Given the description of an element on the screen output the (x, y) to click on. 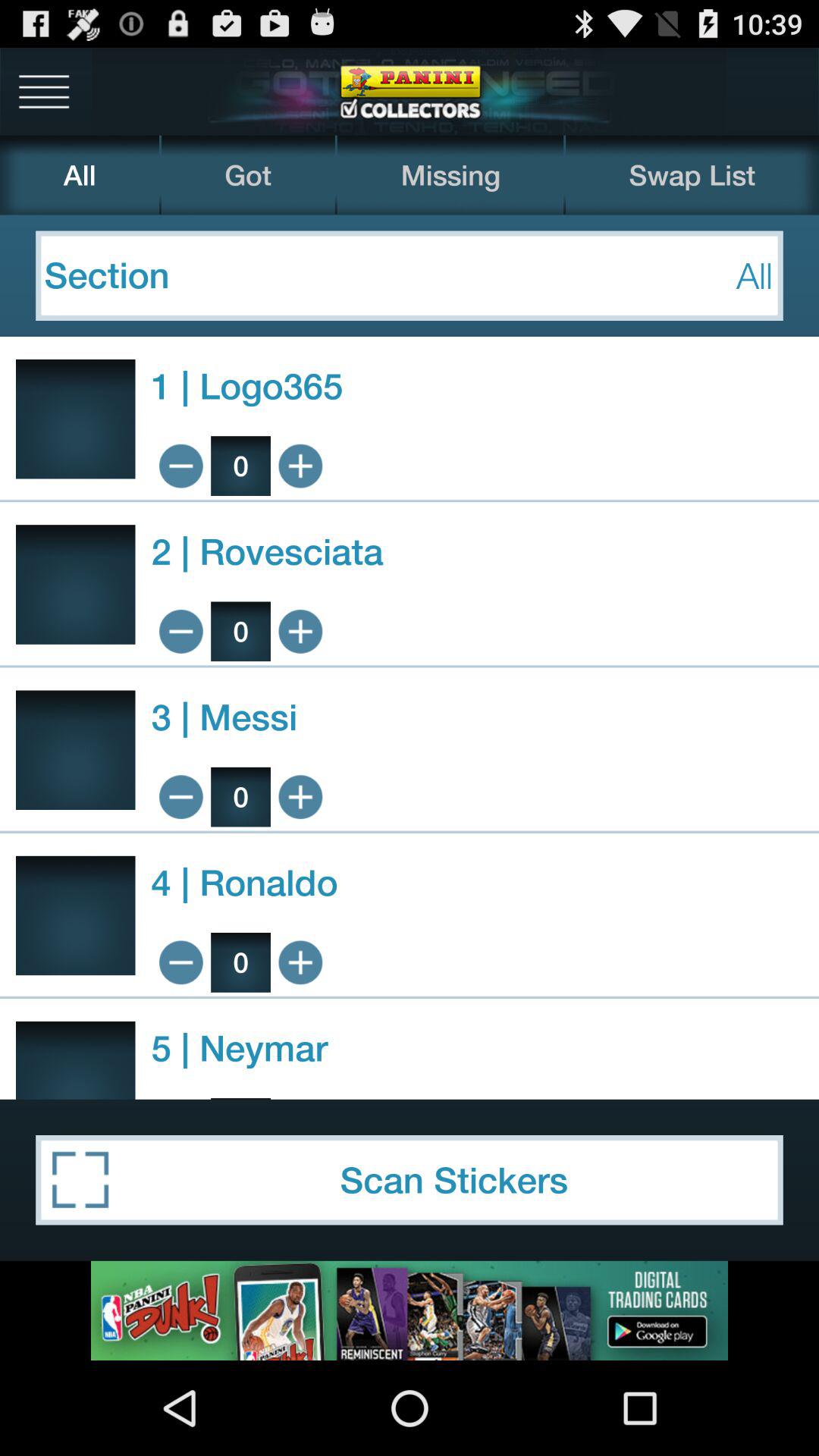
advertisement (409, 1310)
